Given the description of an element on the screen output the (x, y) to click on. 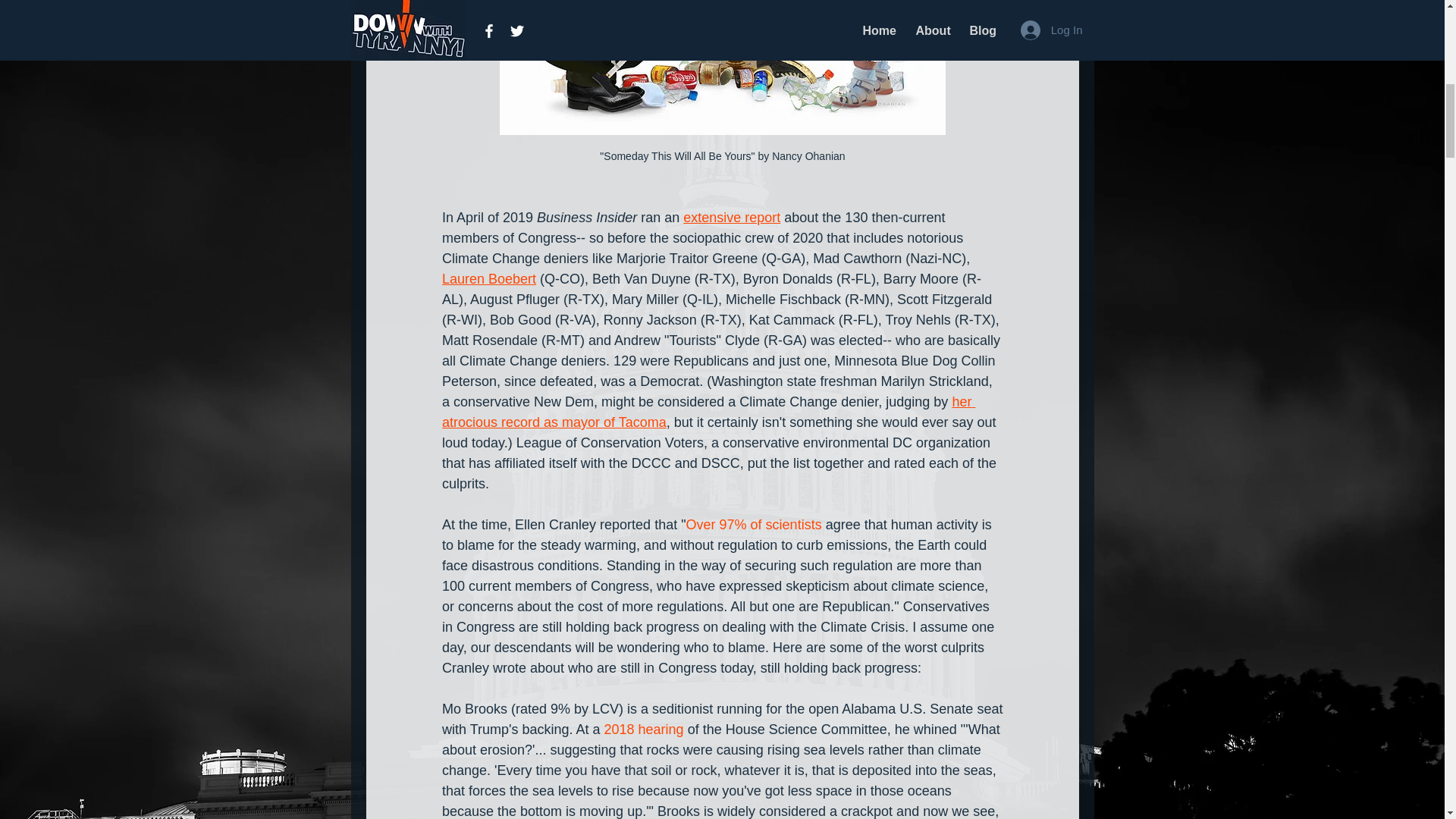
Lauren Boebert (488, 278)
her atrocious record as mayor of Tacoma (707, 411)
extensive report (731, 217)
2018 hearing (643, 729)
